Given the description of an element on the screen output the (x, y) to click on. 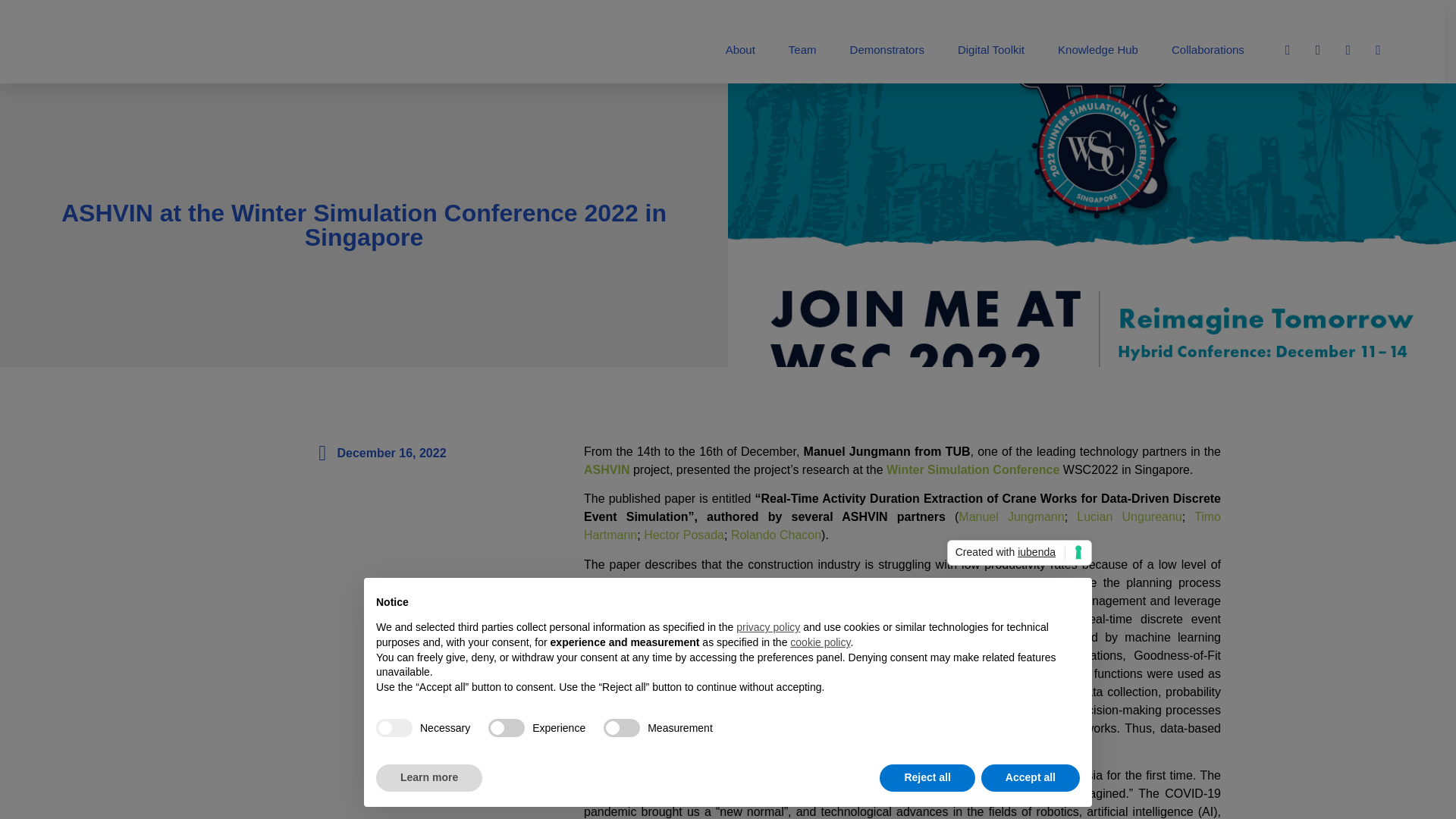
Demonstrators (886, 49)
Collaborations (1207, 49)
About (740, 49)
true (393, 728)
Winter Simulation Conference (972, 469)
false (622, 728)
December 16, 2022 (378, 453)
false (505, 728)
Team (802, 49)
iubenda - Cookie Policy and Cookie Compliance Management (1019, 552)
